Given the description of an element on the screen output the (x, y) to click on. 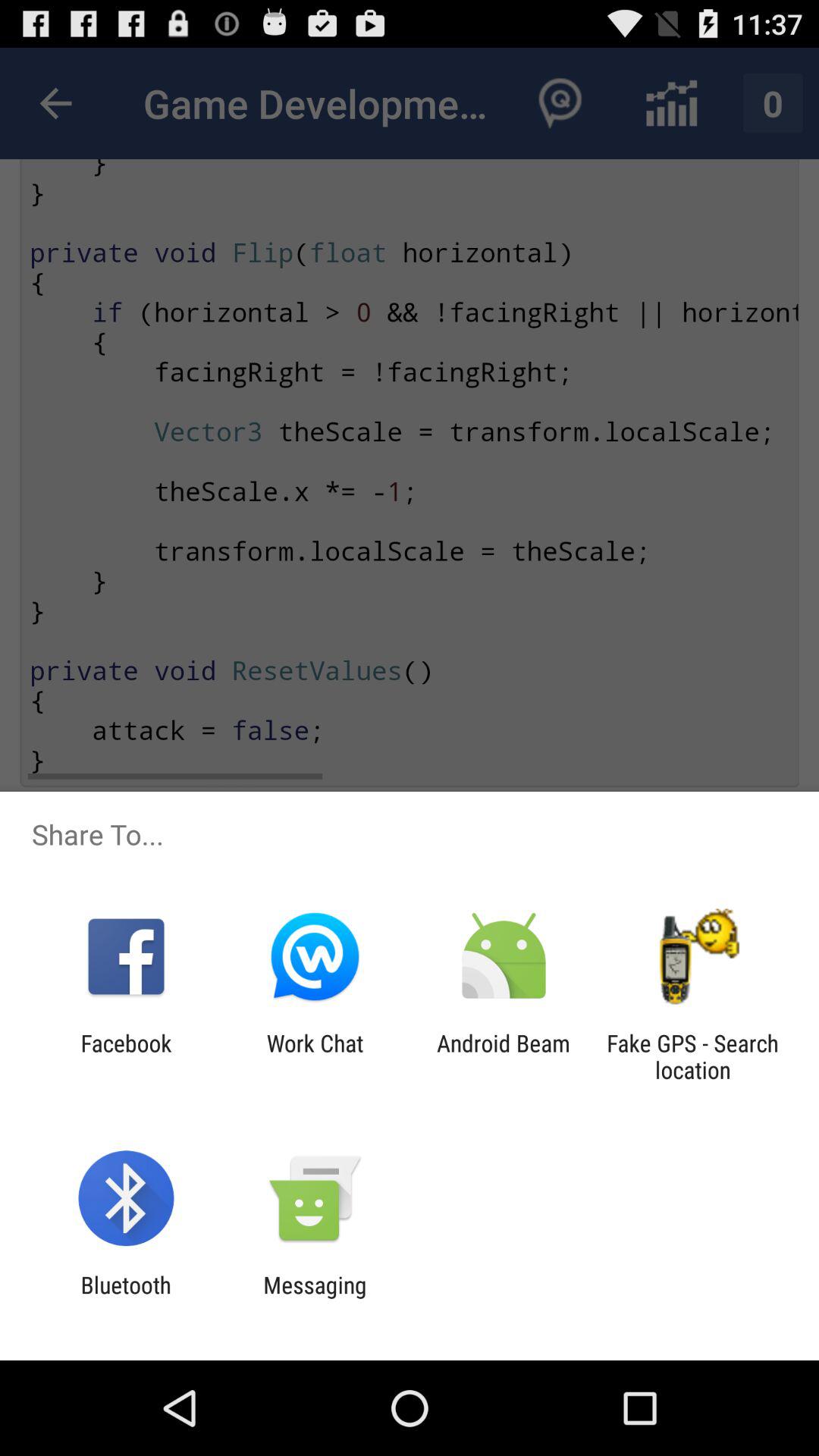
choose icon next to the android beam icon (314, 1056)
